Given the description of an element on the screen output the (x, y) to click on. 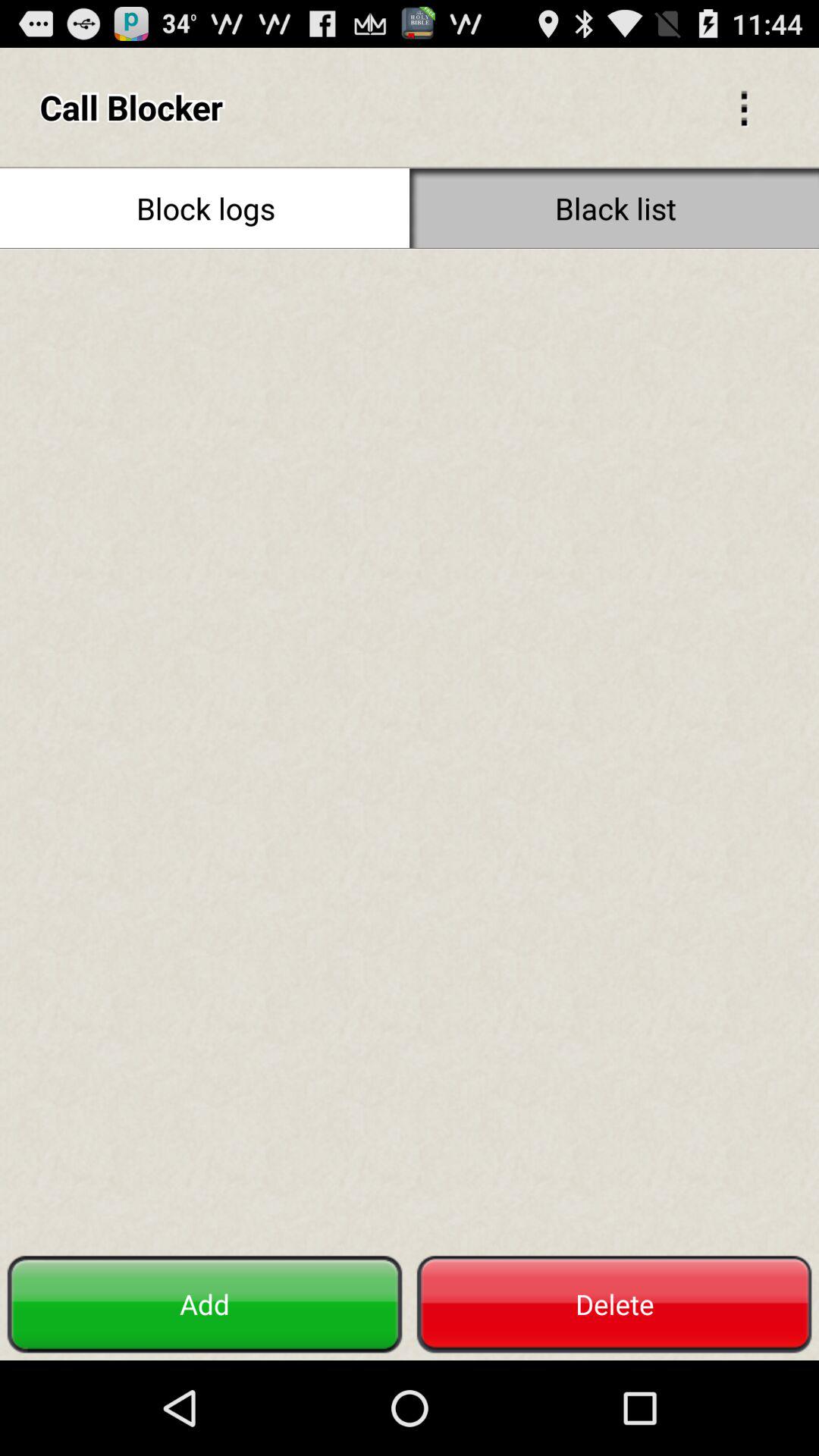
click icon next to black list icon (204, 207)
